Given the description of an element on the screen output the (x, y) to click on. 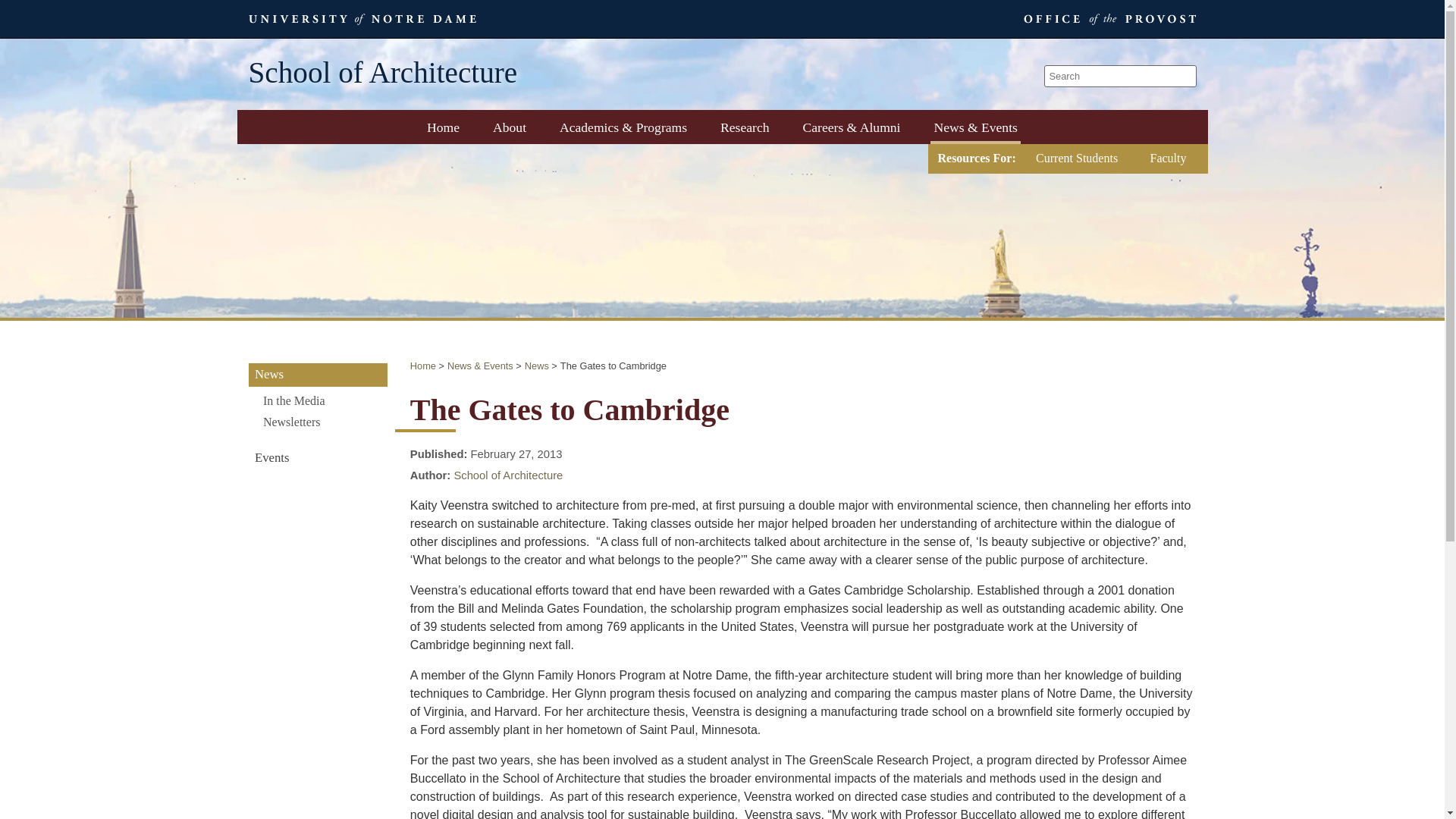
Events (317, 458)
Faculty (1167, 158)
Research (745, 126)
In the Media (317, 400)
School of Architecture (507, 475)
About (509, 126)
News (536, 365)
University of Notre Dame (362, 18)
Home (443, 126)
News (317, 374)
Home (422, 365)
Newsletters (317, 421)
Current Students (1076, 158)
Office of the Provost (1106, 18)
School of Architecture (383, 73)
